Given the description of an element on the screen output the (x, y) to click on. 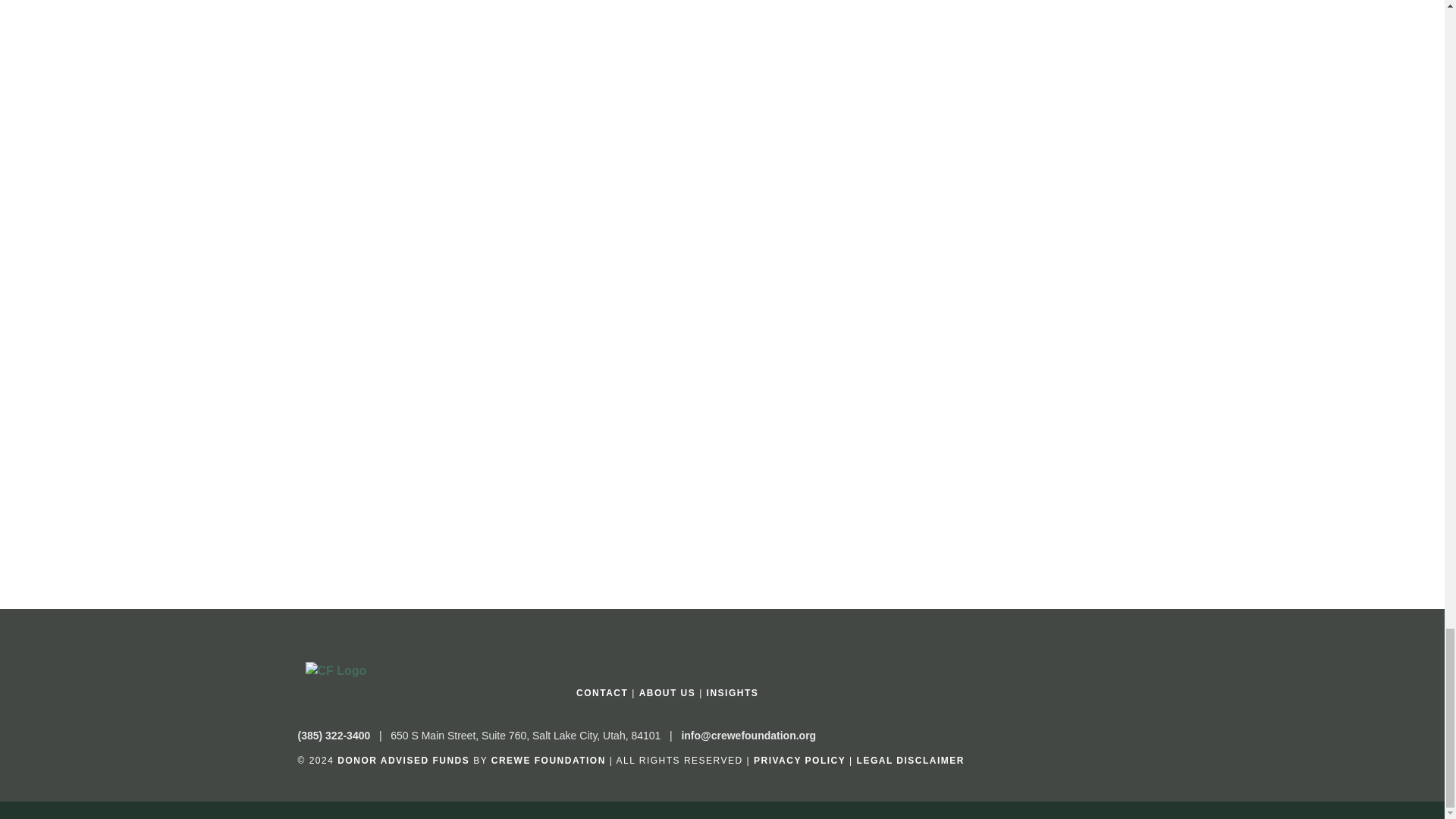
LEGAL DISCLAIMER (910, 760)
ABOUT US (667, 692)
PRIVACY POLICY (799, 760)
DONOR ADVISED FUNDS (402, 760)
CONTACT (601, 692)
INSIGHTS (732, 692)
CREWE FOUNDATION (548, 760)
